Given the description of an element on the screen output the (x, y) to click on. 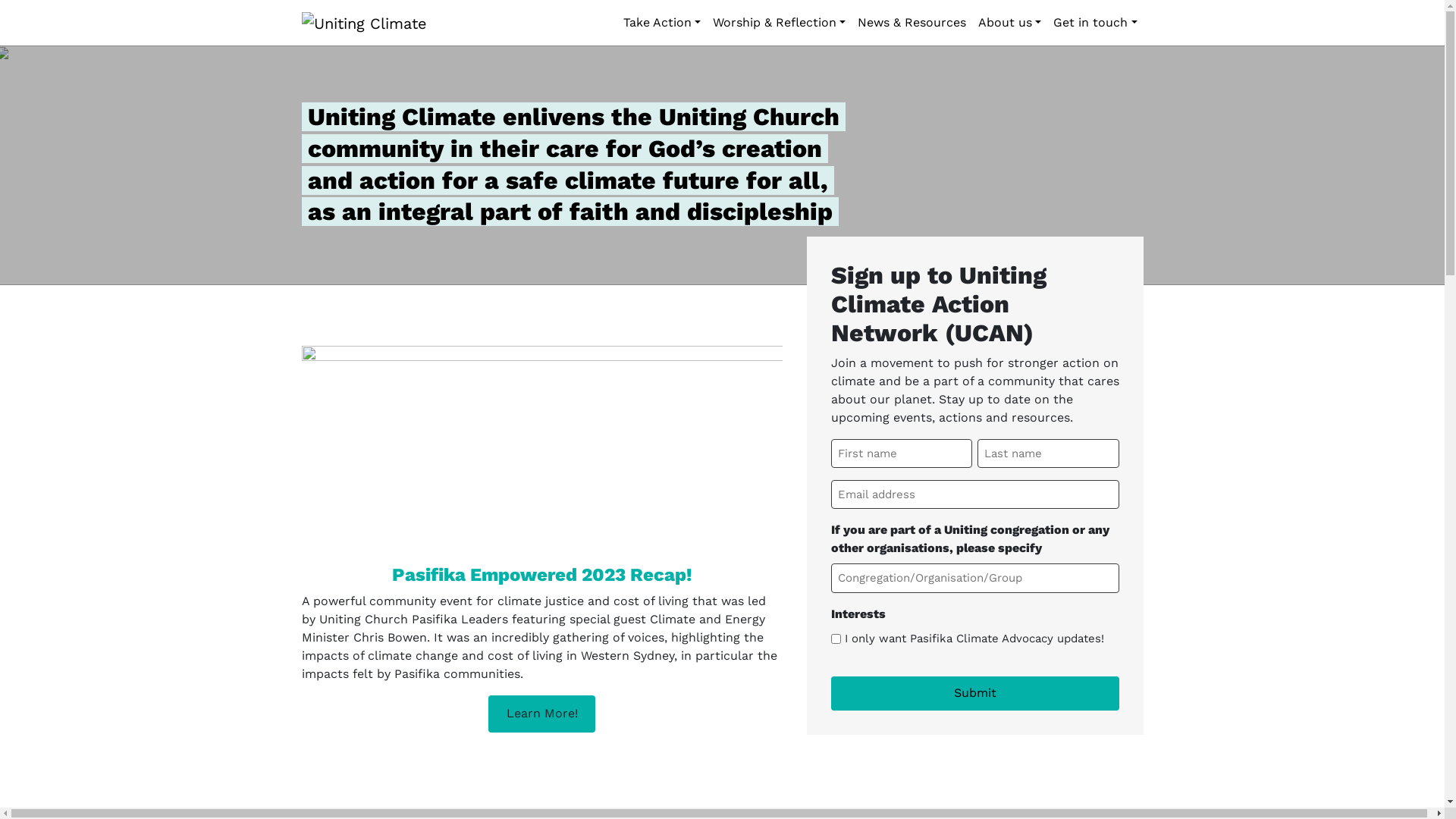
Submit Element type: text (975, 693)
About us Element type: text (1009, 22)
Worship & Reflection Element type: text (778, 22)
Take Action Element type: text (661, 22)
Learn More! Element type: text (541, 713)
Get in touch Element type: text (1094, 22)
News & Resources Element type: text (911, 22)
Pasifika Empowered 2023 Recap! Element type: text (541, 574)
